Given the description of an element on the screen output the (x, y) to click on. 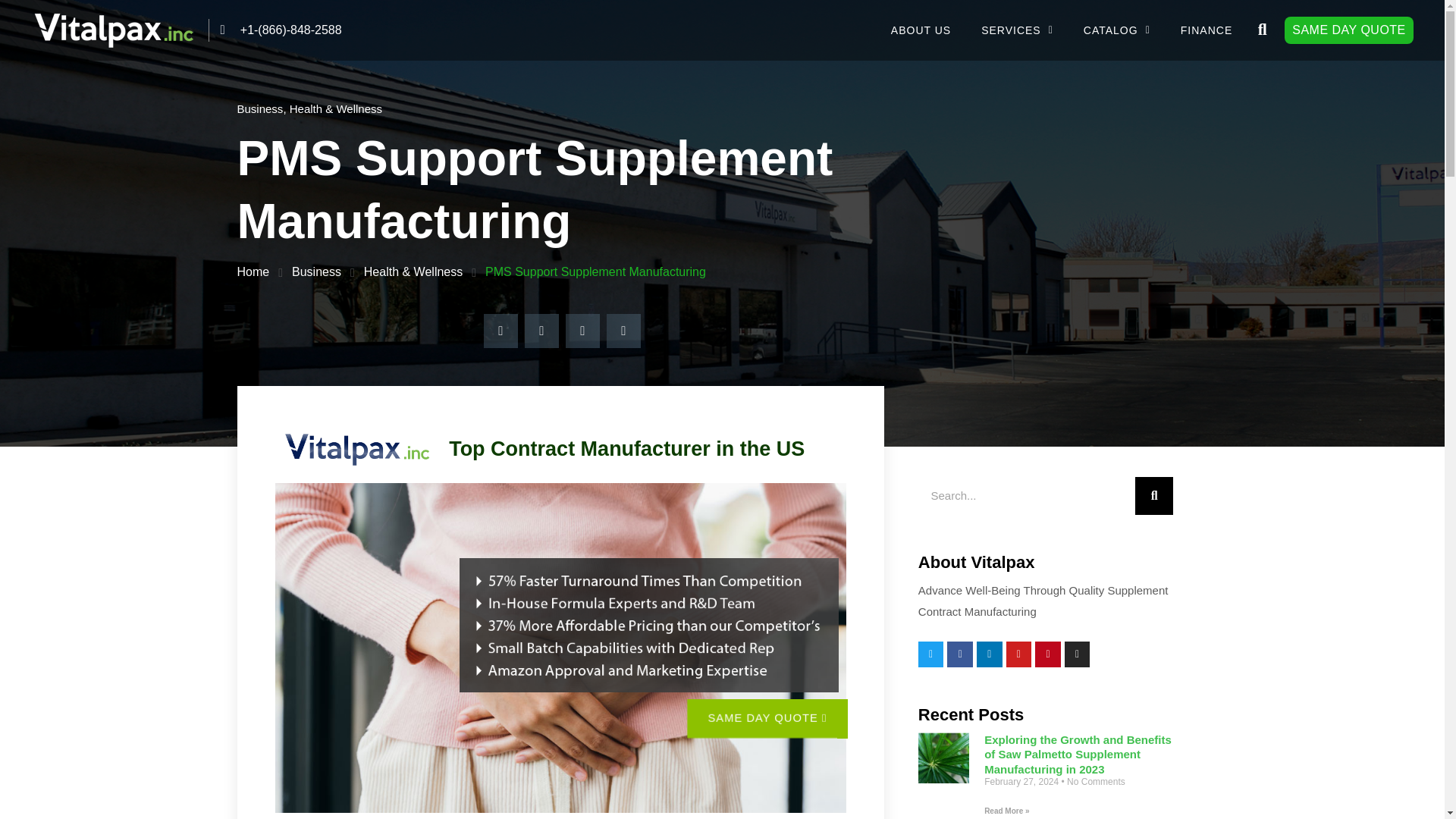
Business (258, 108)
CATALOG (1117, 30)
SAME DAY QUOTE (1348, 30)
Business (316, 272)
ABOUT US (921, 30)
SAME DAY QUOTE (763, 717)
SERVICES (1017, 30)
Home (252, 272)
FINANCE (1206, 30)
